Given the description of an element on the screen output the (x, y) to click on. 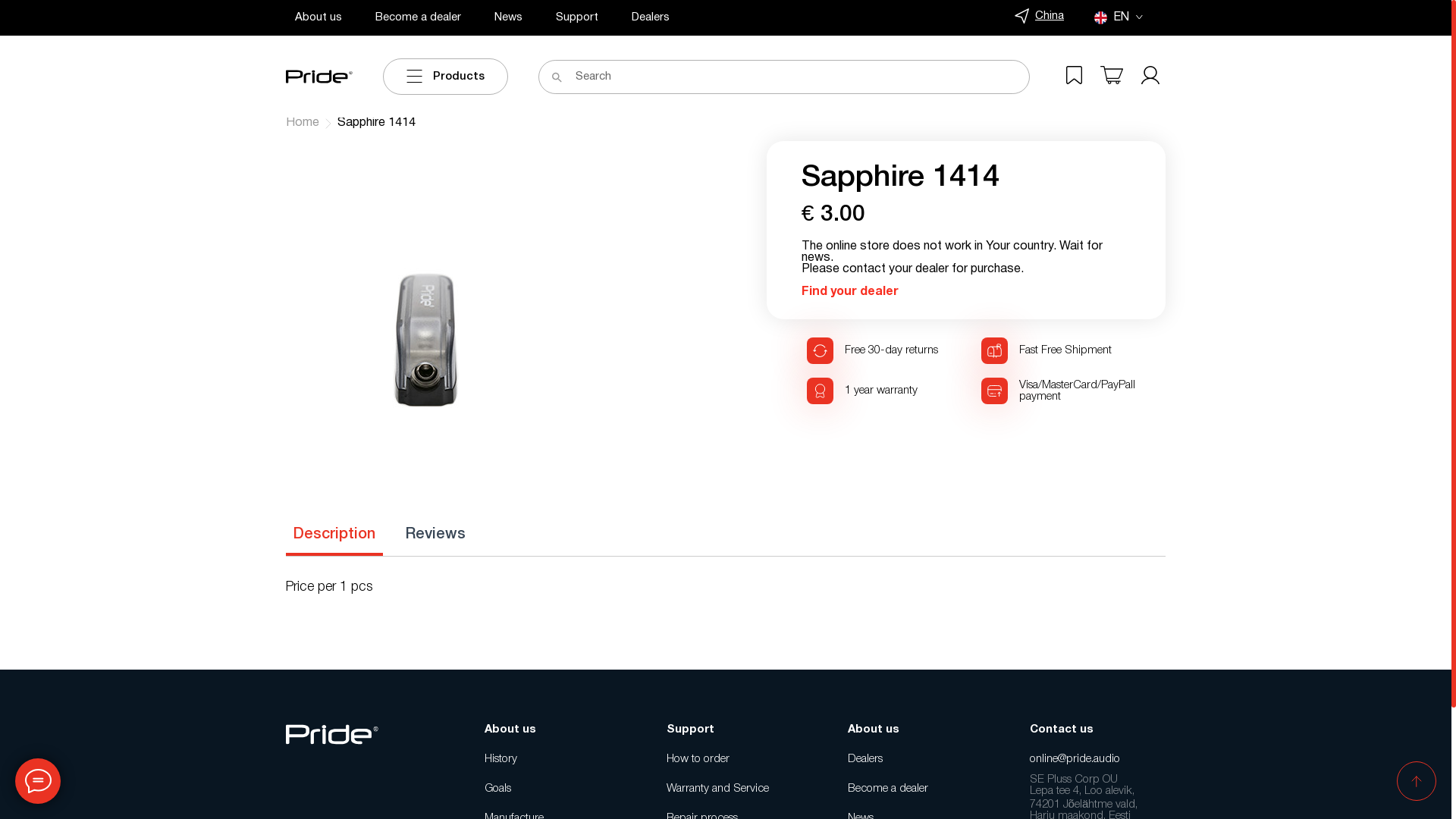
Find your dealer Element type: text (849, 291)
China Element type: text (1038, 16)
Become a dealer Element type: text (418, 17)
Reviews Element type: text (435, 534)
Description Element type: text (333, 534)
Dealers Element type: text (915, 759)
Products Element type: text (445, 76)
Warranty and Service Element type: text (734, 788)
Home Element type: text (302, 122)
Become a dealer Element type: text (915, 788)
online@pride.audio Element type: text (1097, 759)
Dealers Element type: text (650, 17)
News Element type: text (508, 17)
Support Element type: text (576, 17)
How to order Element type: text (734, 759)
Goals Element type: text (552, 788)
History Element type: text (552, 759)
About us Element type: text (318, 17)
